Given the description of an element on the screen output the (x, y) to click on. 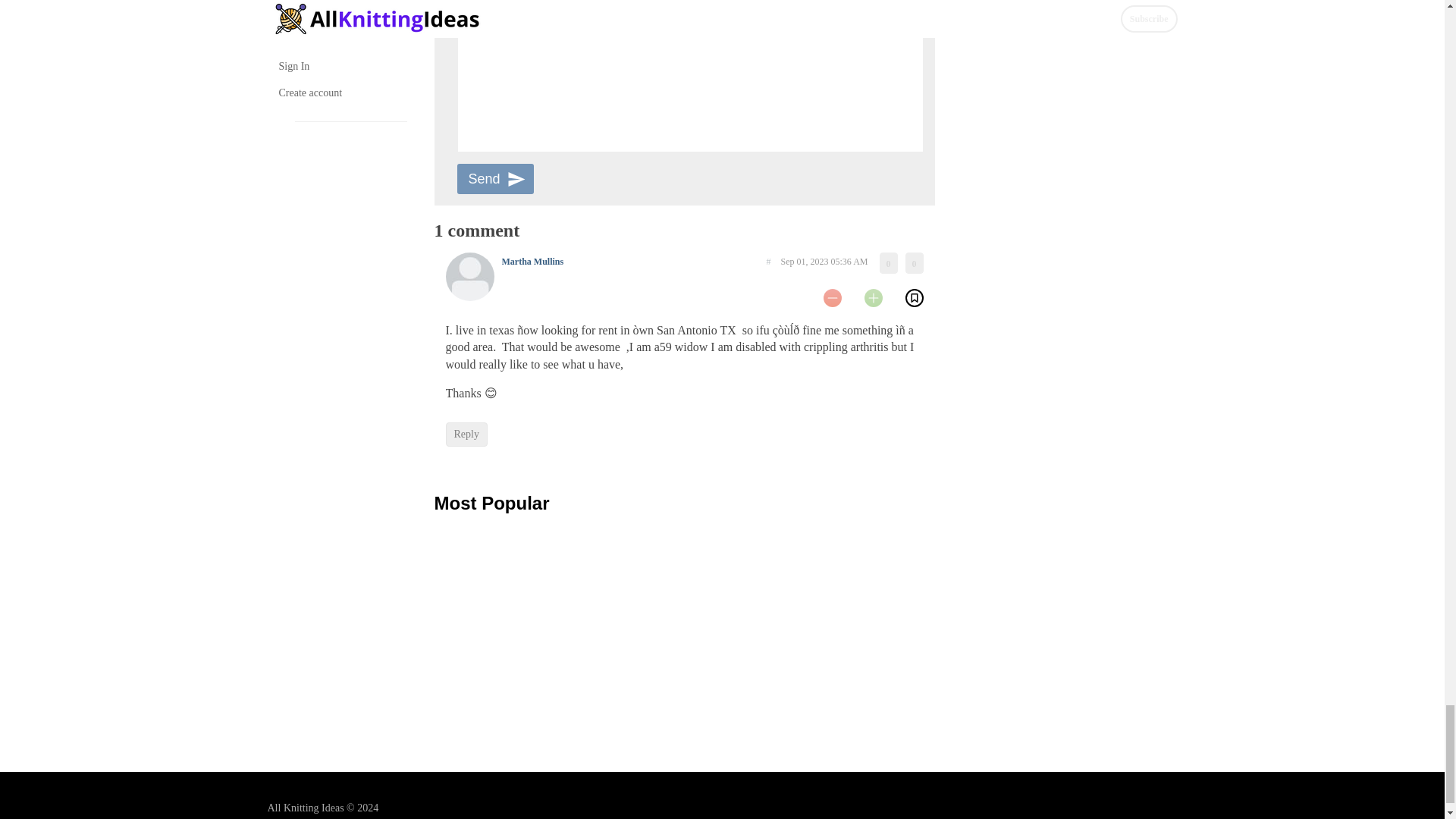
Send (494, 178)
